Given the description of an element on the screen output the (x, y) to click on. 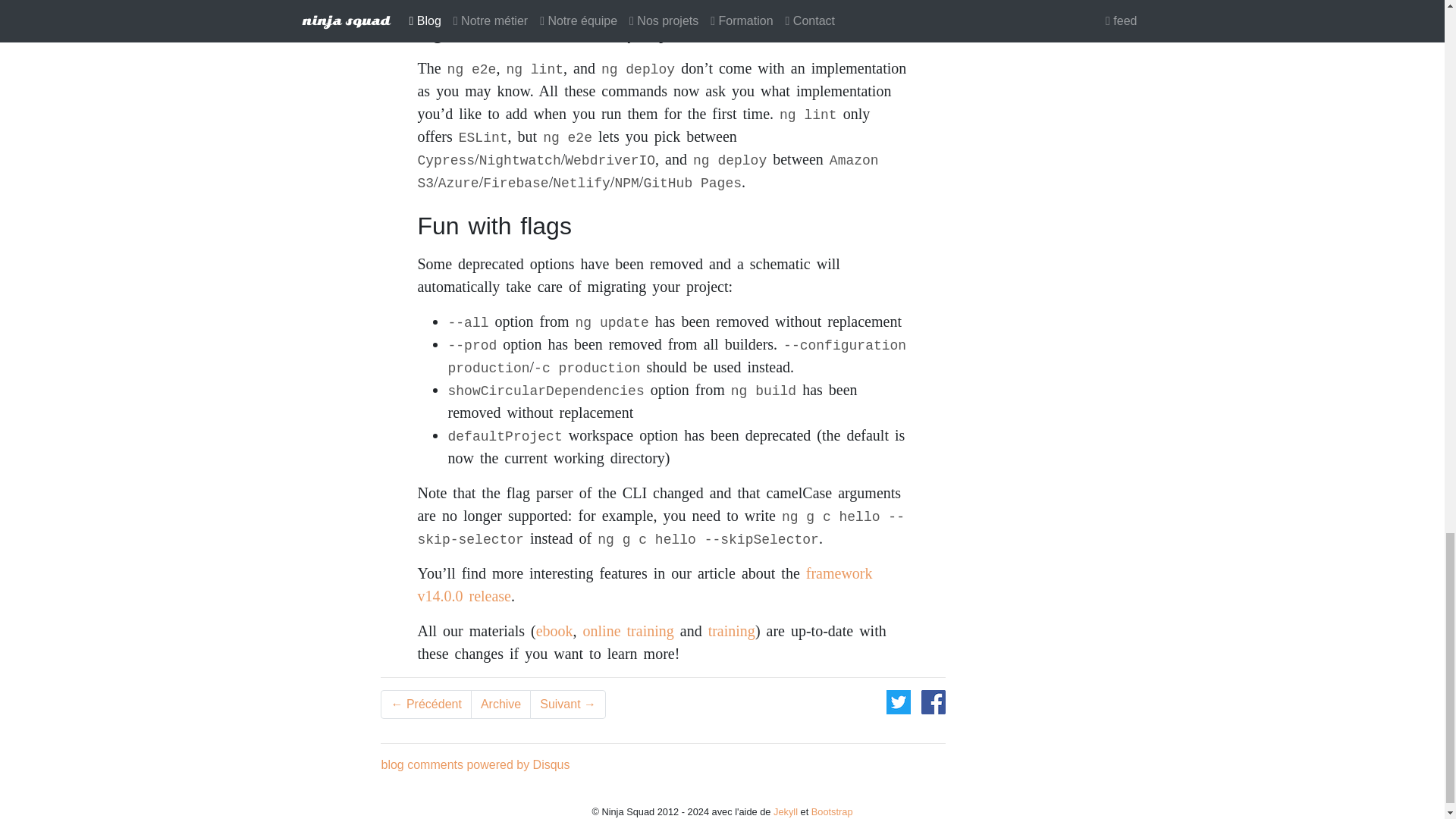
A guide to Standalone Components in Angular (425, 704)
Share on Facebook (932, 700)
framework v14.0.0 release (644, 584)
online training (628, 630)
blog comments powered by Disqus (474, 764)
Share on Twitter (900, 700)
training (731, 630)
What's new in Angular 14? (567, 704)
ebook (554, 630)
Archive (500, 704)
